Given the description of an element on the screen output the (x, y) to click on. 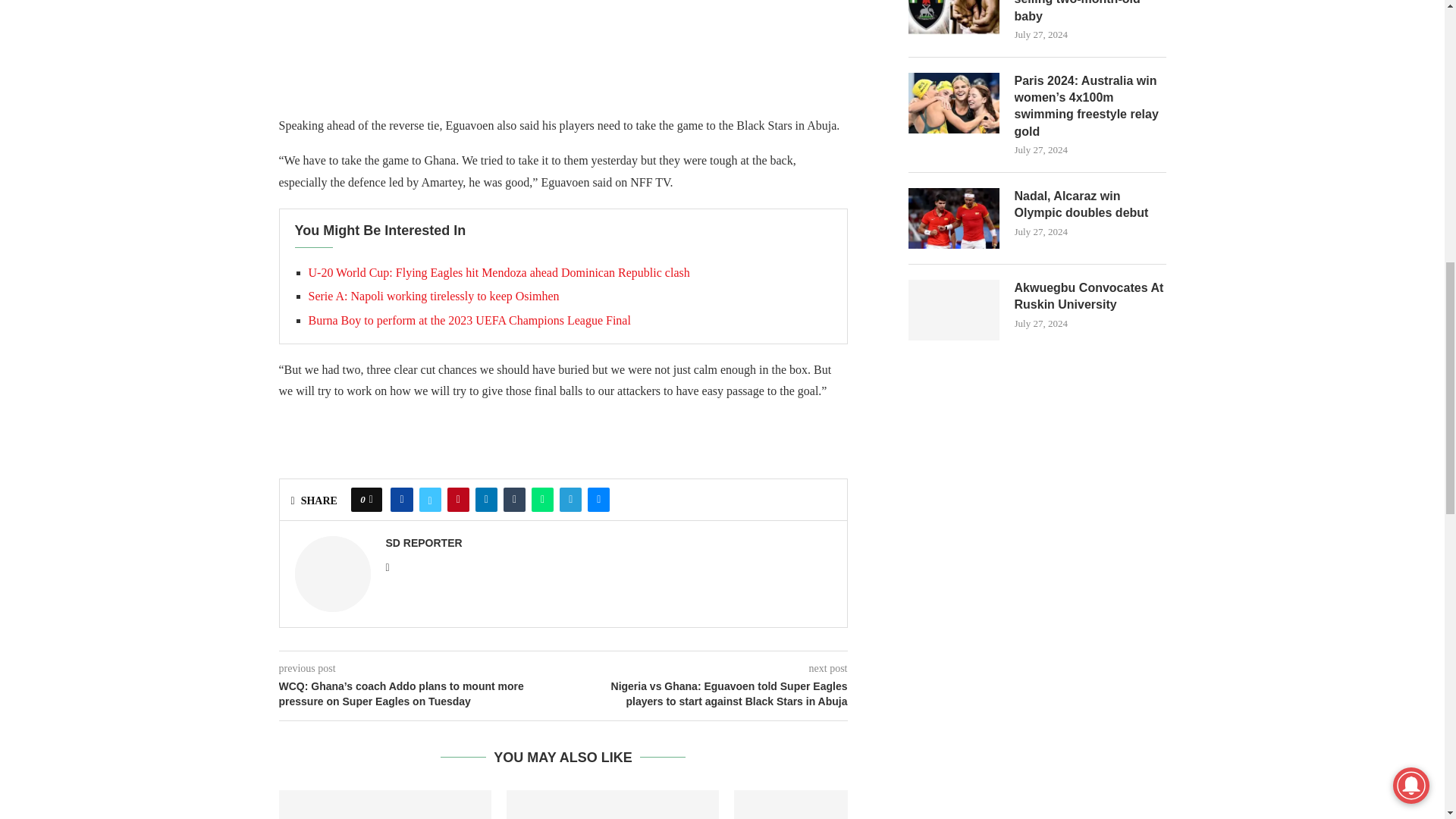
Police apprehend five for selling two-month-old baby (612, 804)
Advertisement (612, 49)
Protest: FG tightens security at borders nationwide (385, 804)
Author SD Reporter (423, 543)
